Given the description of an element on the screen output the (x, y) to click on. 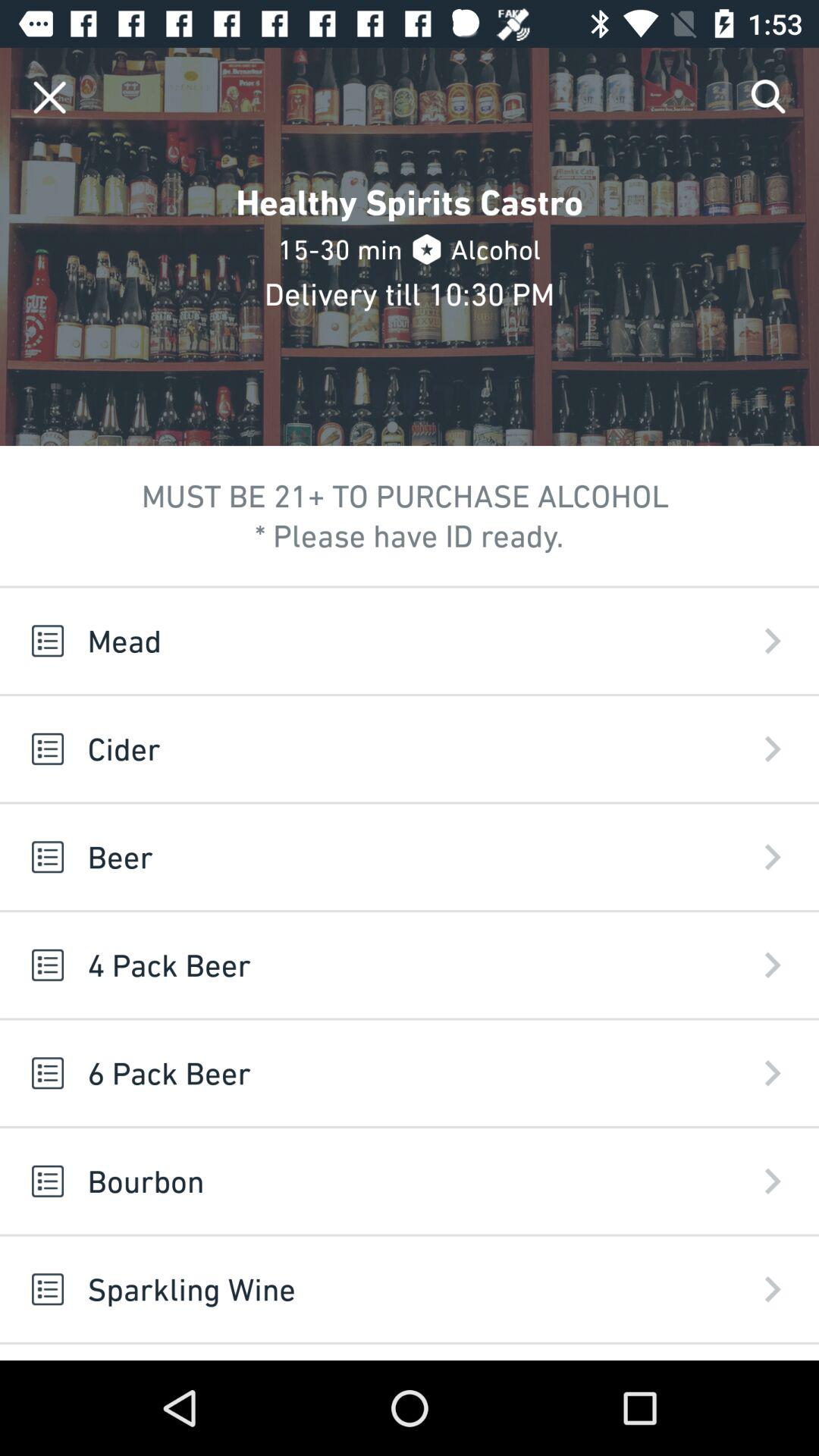
turn on item at the top right corner (769, 97)
